Given the description of an element on the screen output the (x, y) to click on. 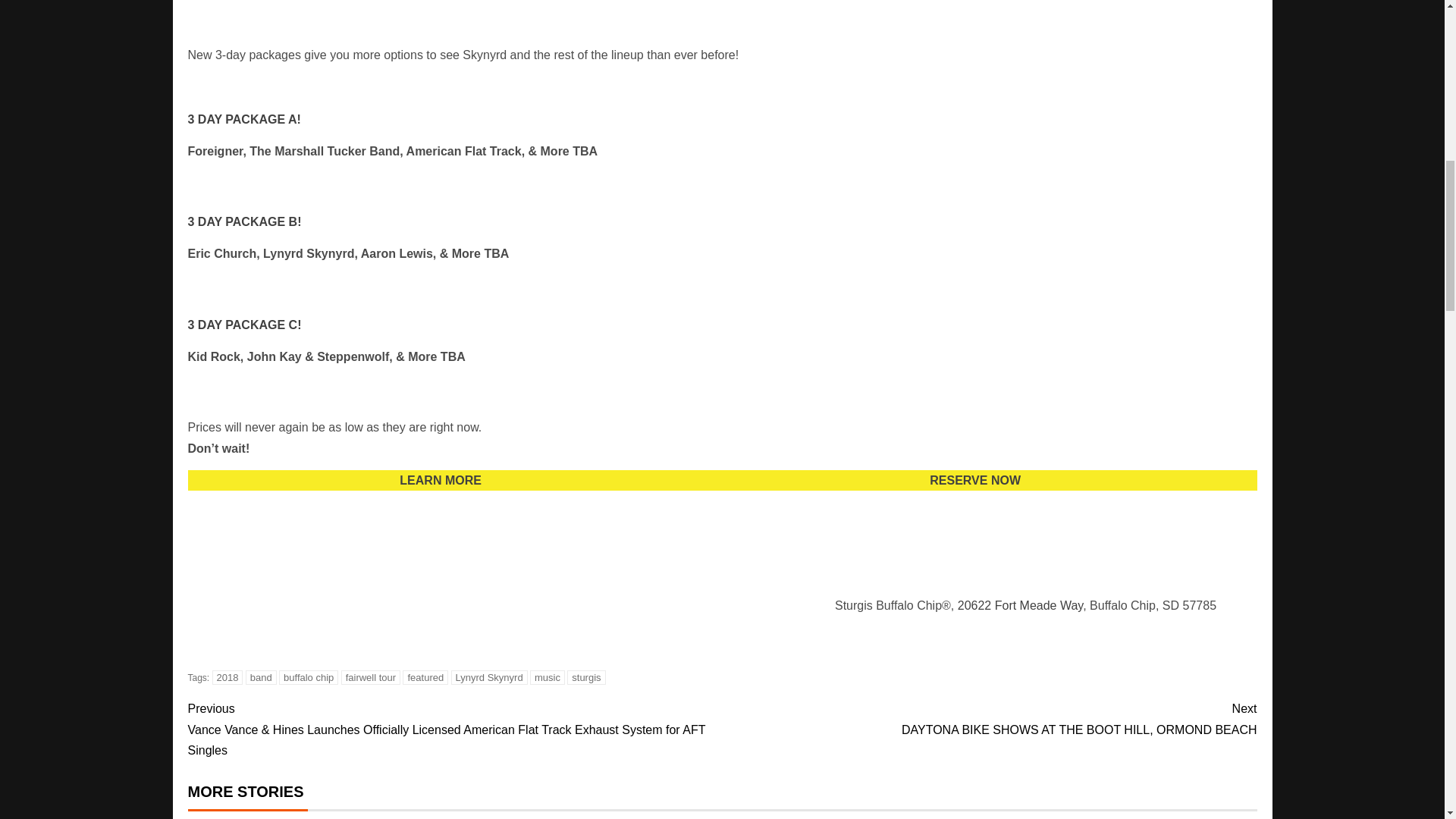
3 DAY PACKAGE A! (244, 119)
